Given the description of an element on the screen output the (x, y) to click on. 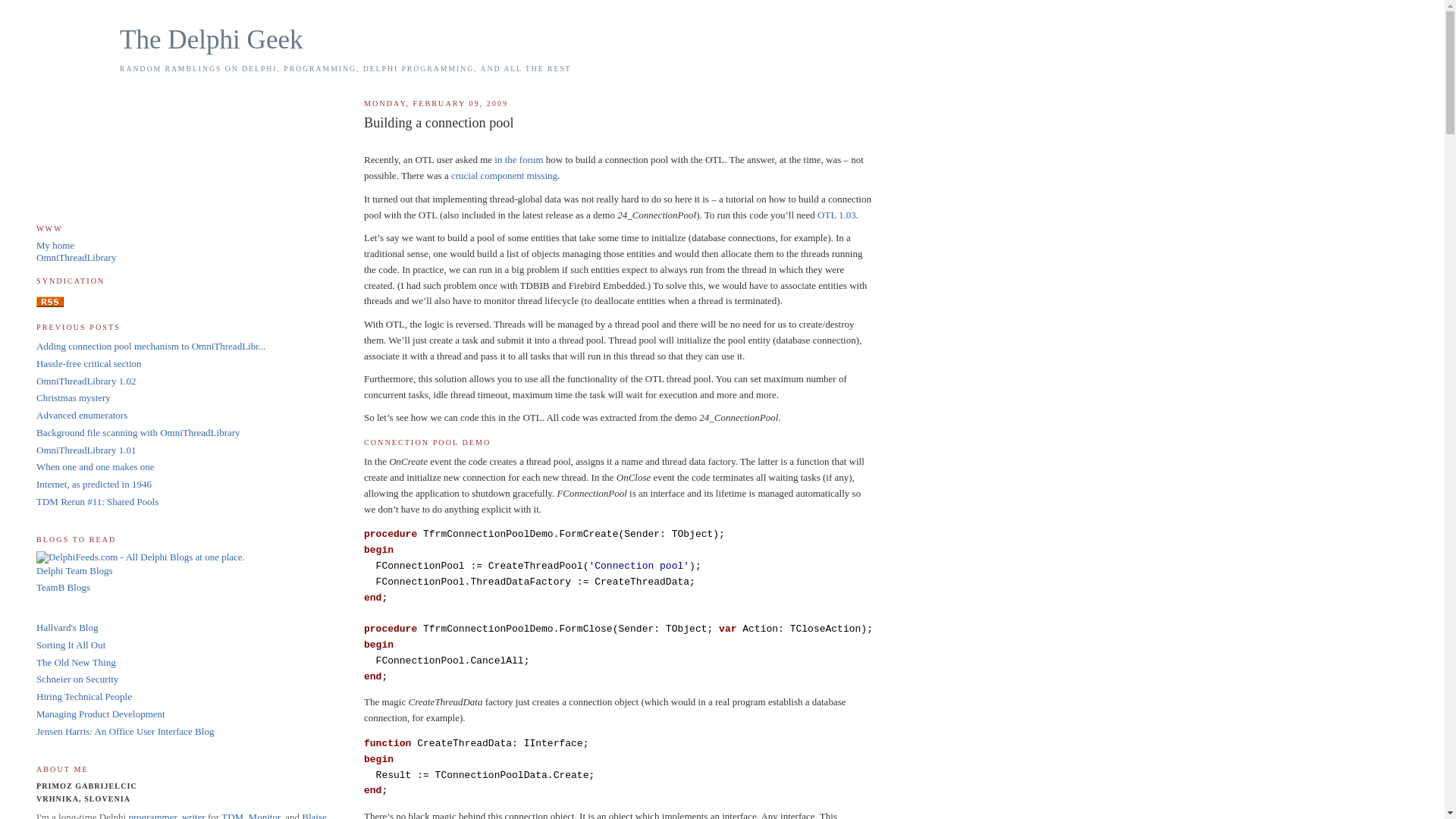
Background file scanning with OmniThreadLibrary Element type: text (138, 432)
TDM Rerun #11: Shared Pools Element type: text (97, 501)
My home Element type: text (55, 245)
The Old New Thing Element type: text (76, 662)
OmniThreadLibrary Element type: text (76, 257)
Christmas mystery Element type: text (73, 397)
When one and one makes one Element type: text (95, 466)
Managing Product Development Element type: text (100, 713)
Advanced enumerators Element type: text (81, 414)
Hallvard's Blog Element type: text (66, 627)
Delphi Team Blogs Element type: text (74, 570)
in the forum Element type: text (518, 159)
OTL 1.03 Element type: text (836, 214)
Hassle-free critical section Element type: text (88, 363)
Jensen Harris: An Office User Interface Blog Element type: text (124, 731)
OmniThreadLibrary 1.01 Element type: text (85, 449)
TeamB Blogs Element type: text (63, 587)
Internet, as predicted in 1946 Element type: text (93, 483)
The Delphi Geek Element type: text (211, 39)
Sorting It All Out Element type: text (70, 644)
Adding connection pool mechanism to OmniThreadLibr... Element type: text (151, 345)
OmniThreadLibrary 1.02 Element type: text (85, 380)
crucial component missing Element type: text (504, 175)
DelphiFeeds.com - All Delphi Blogs at one place. Element type: hover (140, 556)
Schneier on Security Element type: text (77, 678)
Hiring Technical People Element type: text (83, 696)
